Given the description of an element on the screen output the (x, y) to click on. 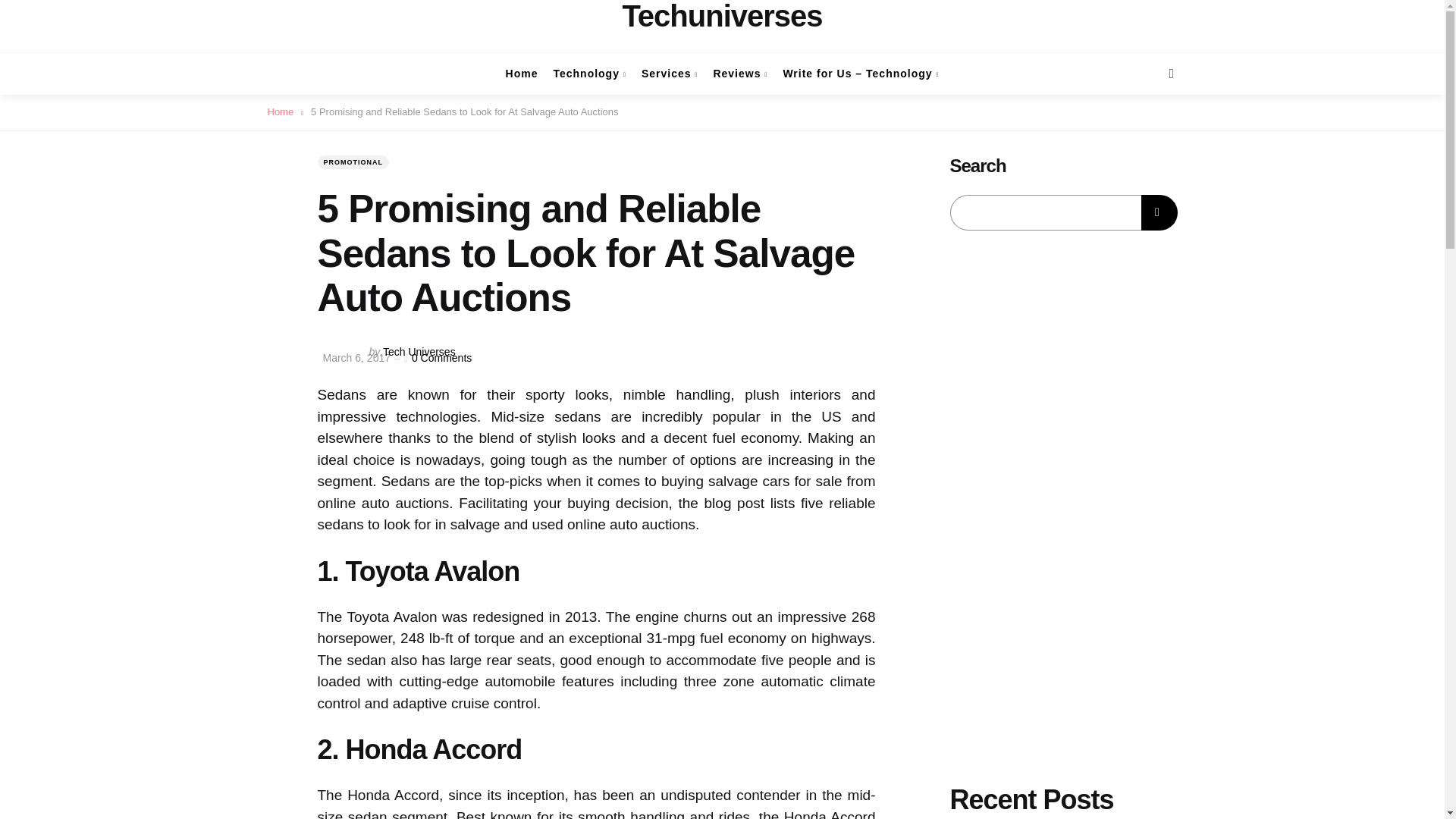
Techuniverses (721, 15)
Home (521, 73)
Technology (589, 73)
Services (670, 73)
